Given the description of an element on the screen output the (x, y) to click on. 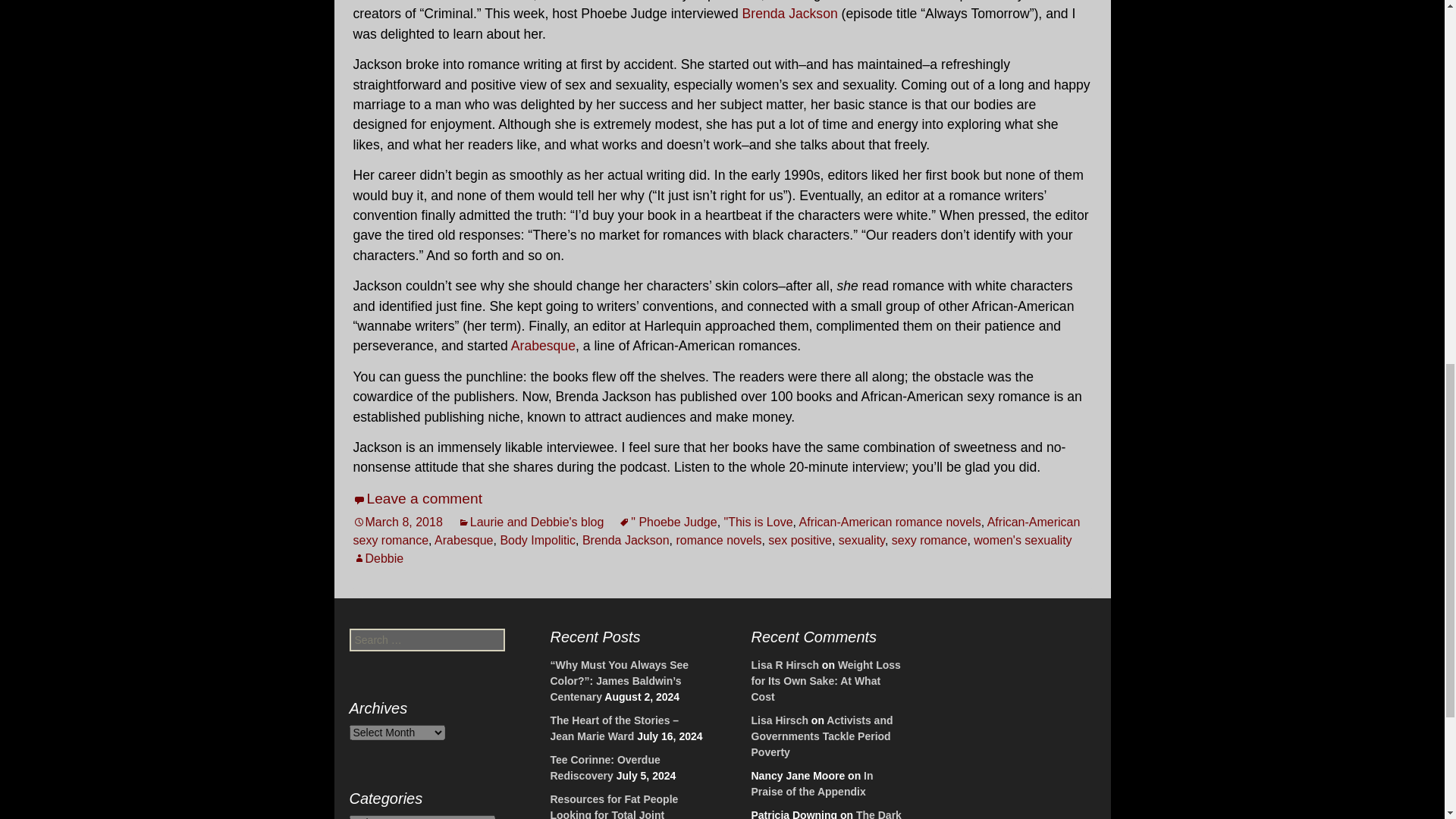
African-American sexy romance (716, 531)
Arabesque (463, 540)
Brenda Jackson (625, 540)
View all posts by Debbie (378, 558)
March 8, 2018 (397, 521)
Leave a comment (418, 498)
sex positive (799, 540)
romance novels (719, 540)
African-American romance novels (890, 521)
Arabesque (543, 345)
sexuality (861, 540)
" Phoebe Judge (667, 521)
Brenda Jackson (790, 13)
Laurie and Debbie's blog (531, 521)
